Given the description of an element on the screen output the (x, y) to click on. 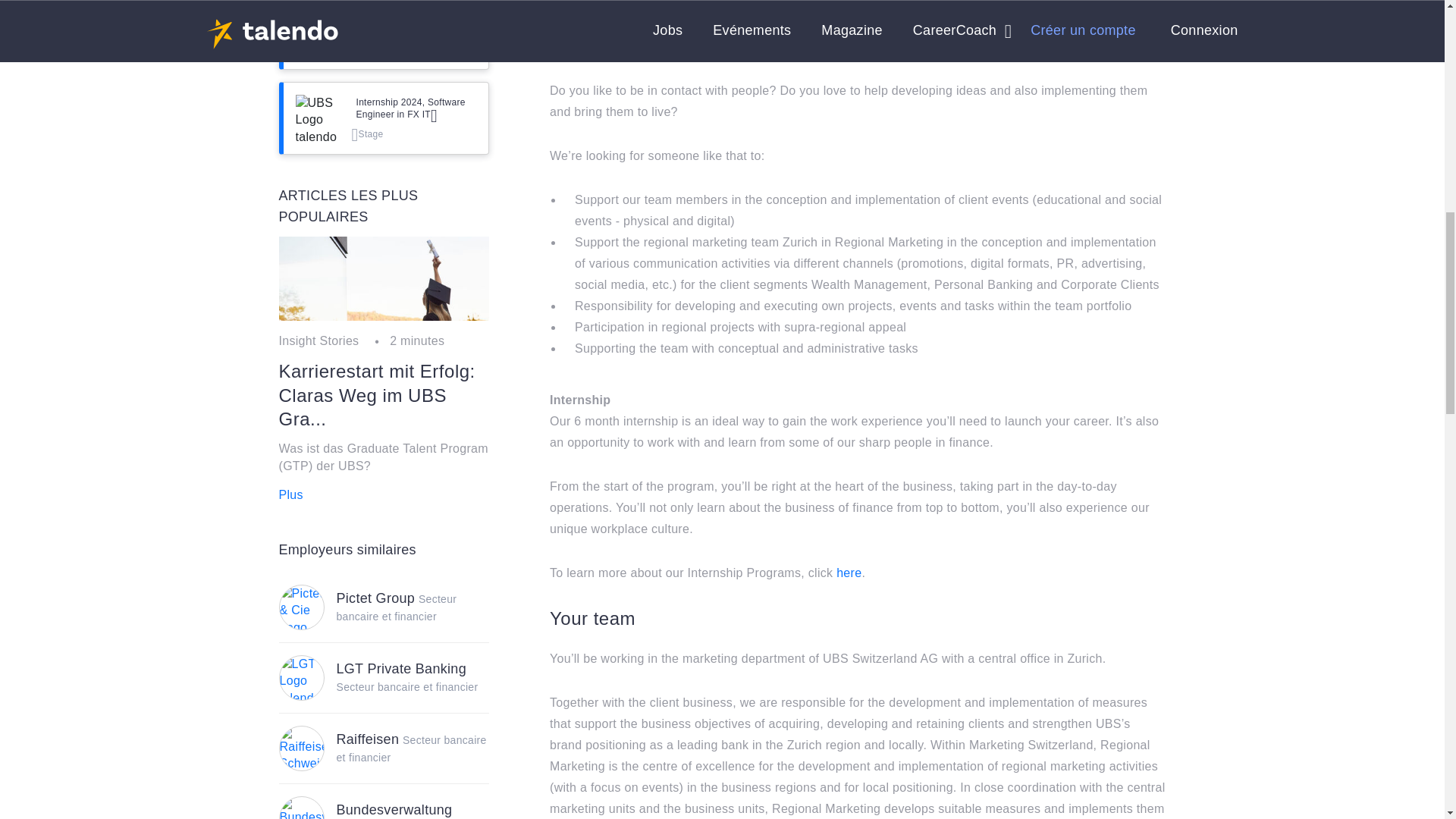
Raiffeisen Schweiz Logo talendo (301, 748)
Internship 2024, Software Engineer in FX IT (416, 108)
Bundesverwaltung Logo talendo (301, 807)
UBS Logo talendo (318, 32)
Internship 2024, Software Engineer in FX M... (416, 23)
UBS Logo talendo (318, 118)
LGT Logo talendo (301, 678)
